Given the description of an element on the screen output the (x, y) to click on. 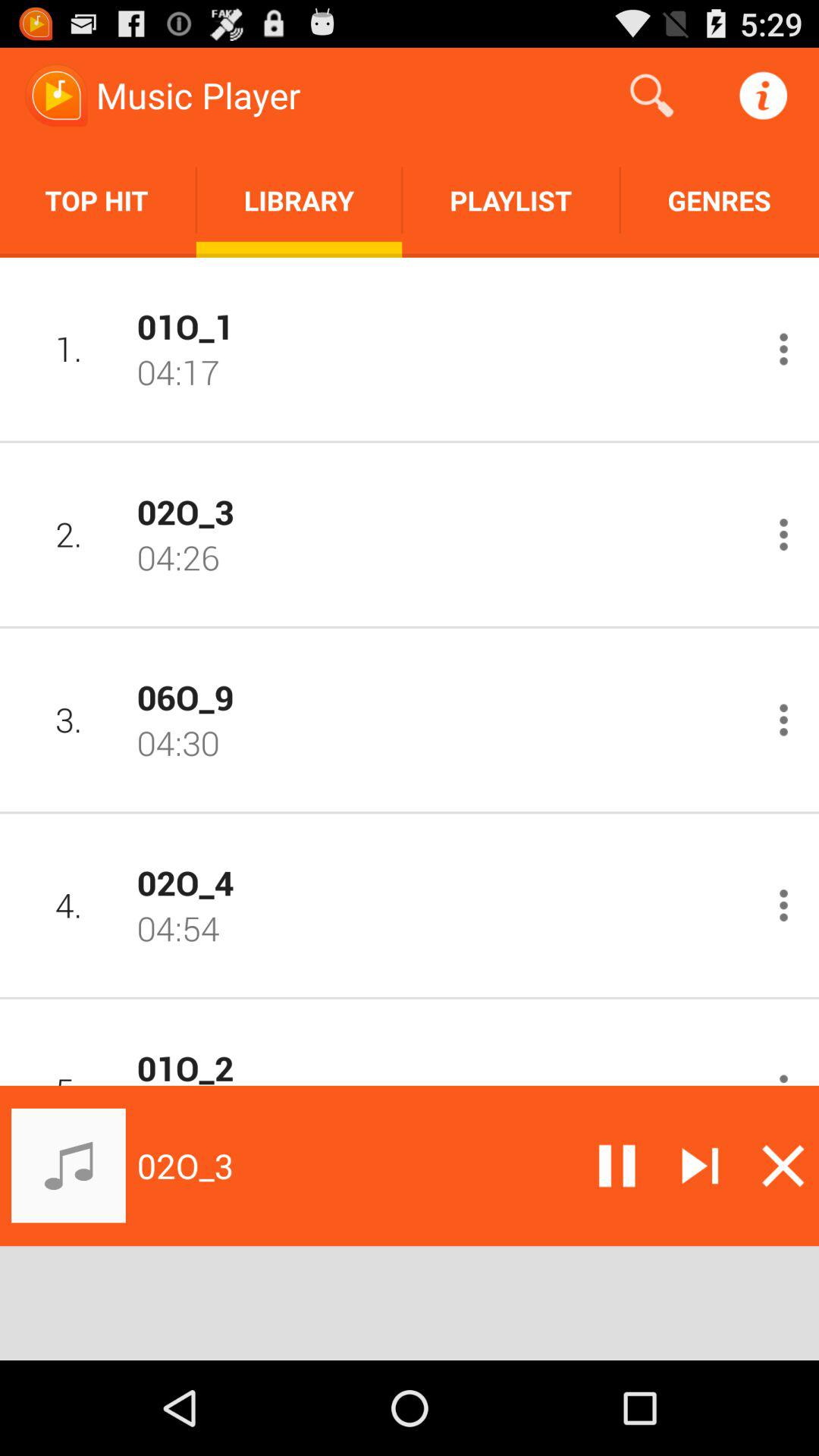
more options (783, 719)
